Given the description of an element on the screen output the (x, y) to click on. 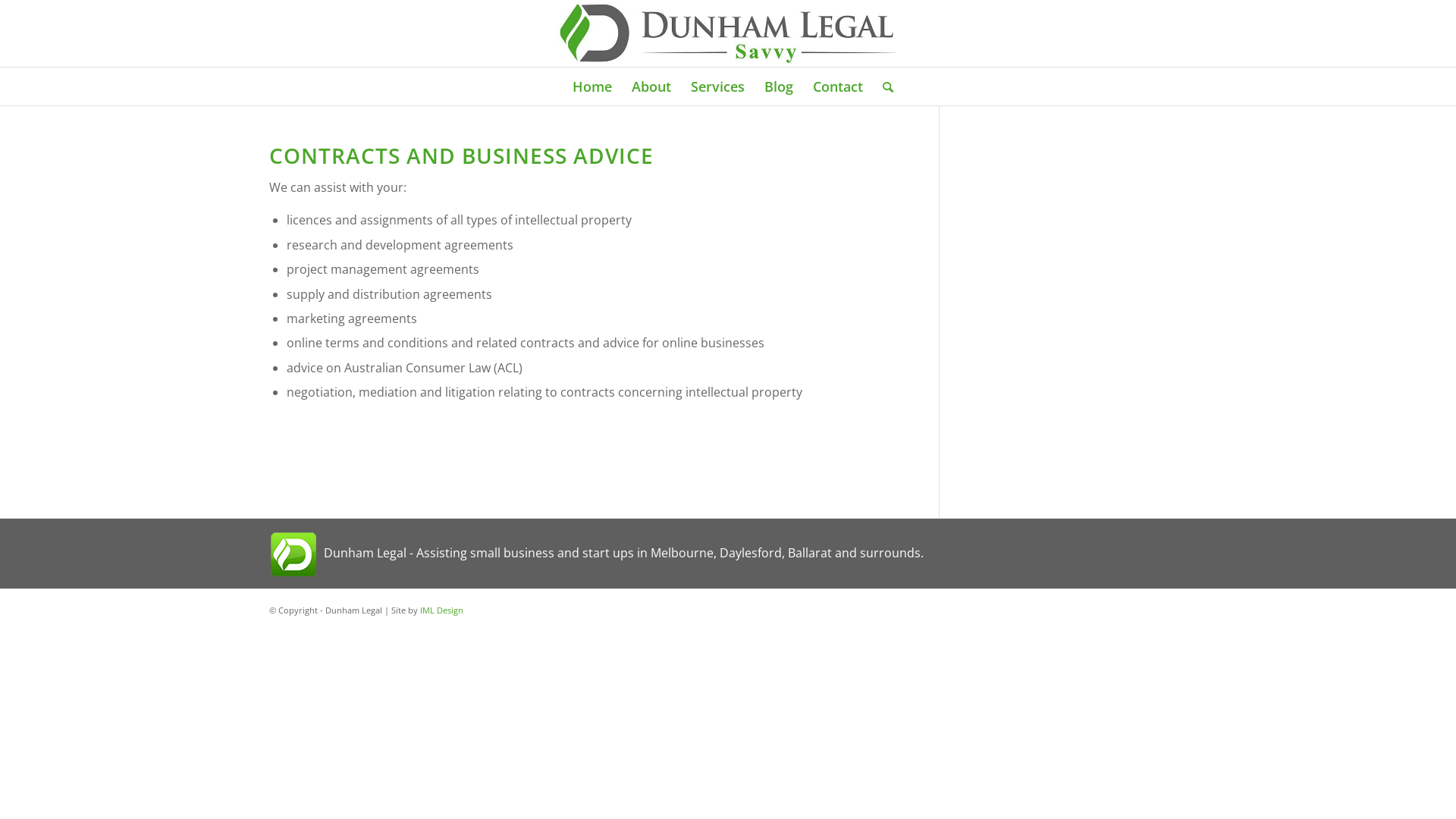
Services Element type: text (717, 86)
About Element type: text (650, 86)
Home Element type: text (591, 86)
Blog Element type: text (778, 86)
IML Design Element type: text (441, 609)
Contact Element type: text (837, 86)
